Given the description of an element on the screen output the (x, y) to click on. 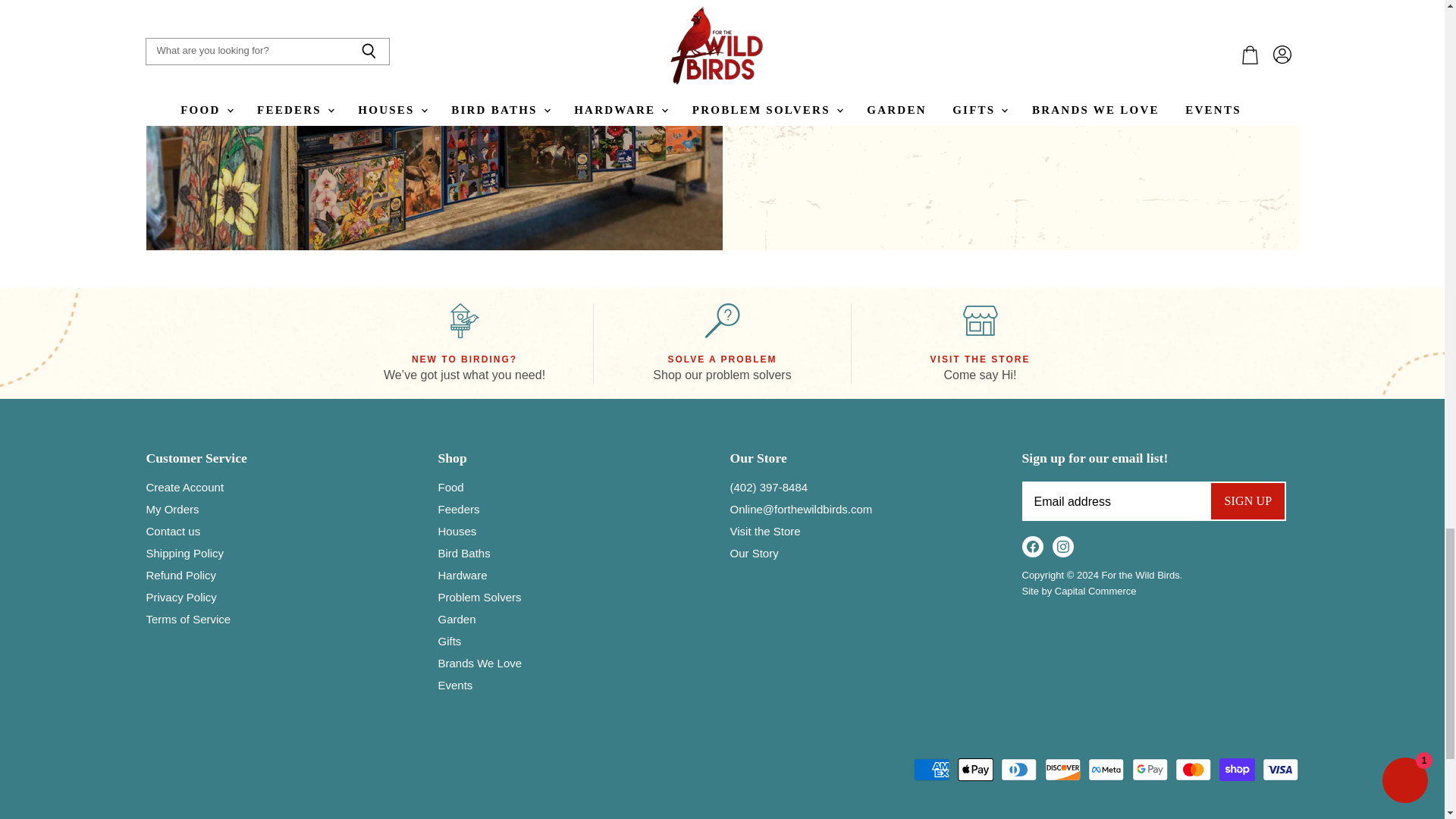
Store icon (979, 320)
Facebook (1032, 546)
Instagram (1063, 546)
